Given the description of an element on the screen output the (x, y) to click on. 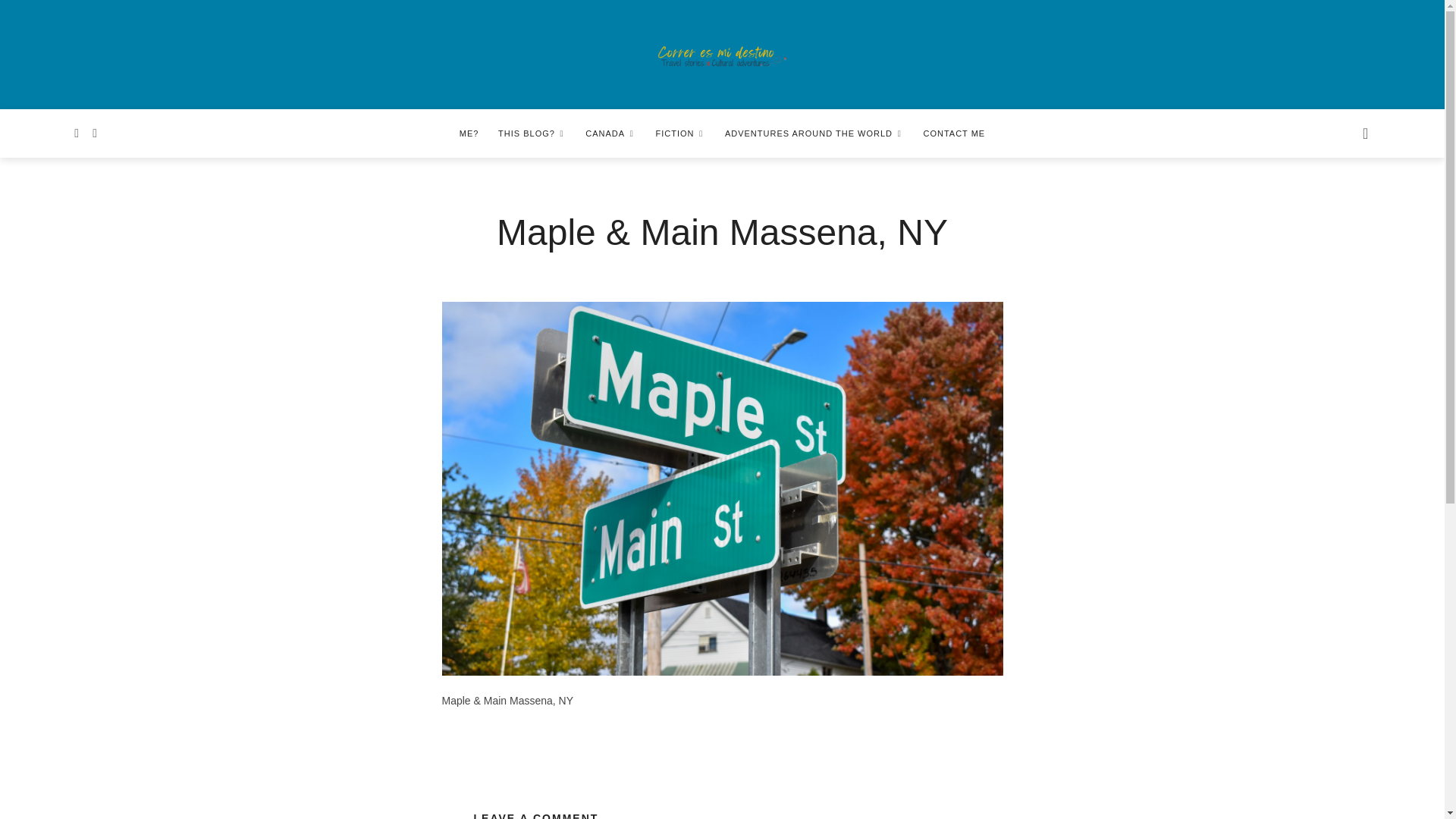
ADVENTURES AROUND THE WORLD (814, 133)
CANADA (610, 133)
ME? (468, 133)
THIS BLOG? (531, 133)
Correr Es Mi Destino (722, 56)
FICTION (680, 133)
